Given the description of an element on the screen output the (x, y) to click on. 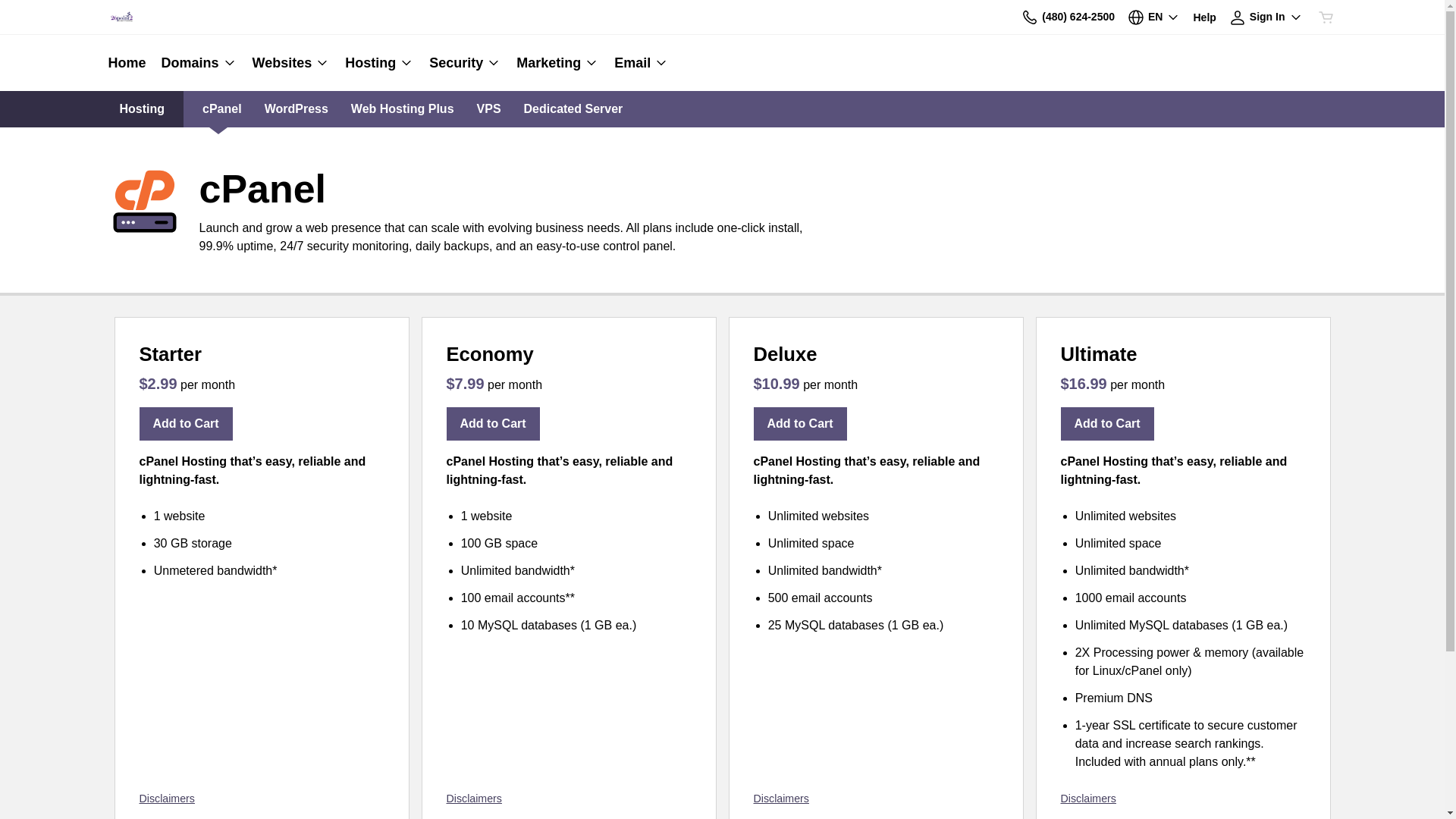
Dedicated Server Element type: text (573, 108)
Marketing Element type: text (557, 62)
Add to Cart Element type: text (1106, 423)
Add to Cart Element type: text (800, 423)
Help Element type: text (1203, 17)
VPS Element type: text (488, 108)
Contact Us Element type: hover (1029, 17)
Add to Cart Element type: text (492, 423)
Web Hosting Plus Element type: text (402, 108)
Domains Element type: text (198, 62)
cPanel Element type: text (221, 108)
Disclaimers Element type: text (1087, 798)
Sign In Element type: text (1265, 17)
Disclaimers Element type: text (473, 798)
Disclaimers Element type: text (166, 798)
Websites Element type: text (291, 62)
Disclaimers Element type: text (781, 798)
WordPress Element type: text (296, 108)
(480) 624-2500 Element type: text (1067, 17)
Email Element type: text (637, 62)
Home Element type: text (130, 62)
Add to Cart Element type: text (185, 423)
Security Element type: text (464, 62)
EN Element type: text (1153, 17)
Hosting Element type: text (379, 62)
